Given the description of an element on the screen output the (x, y) to click on. 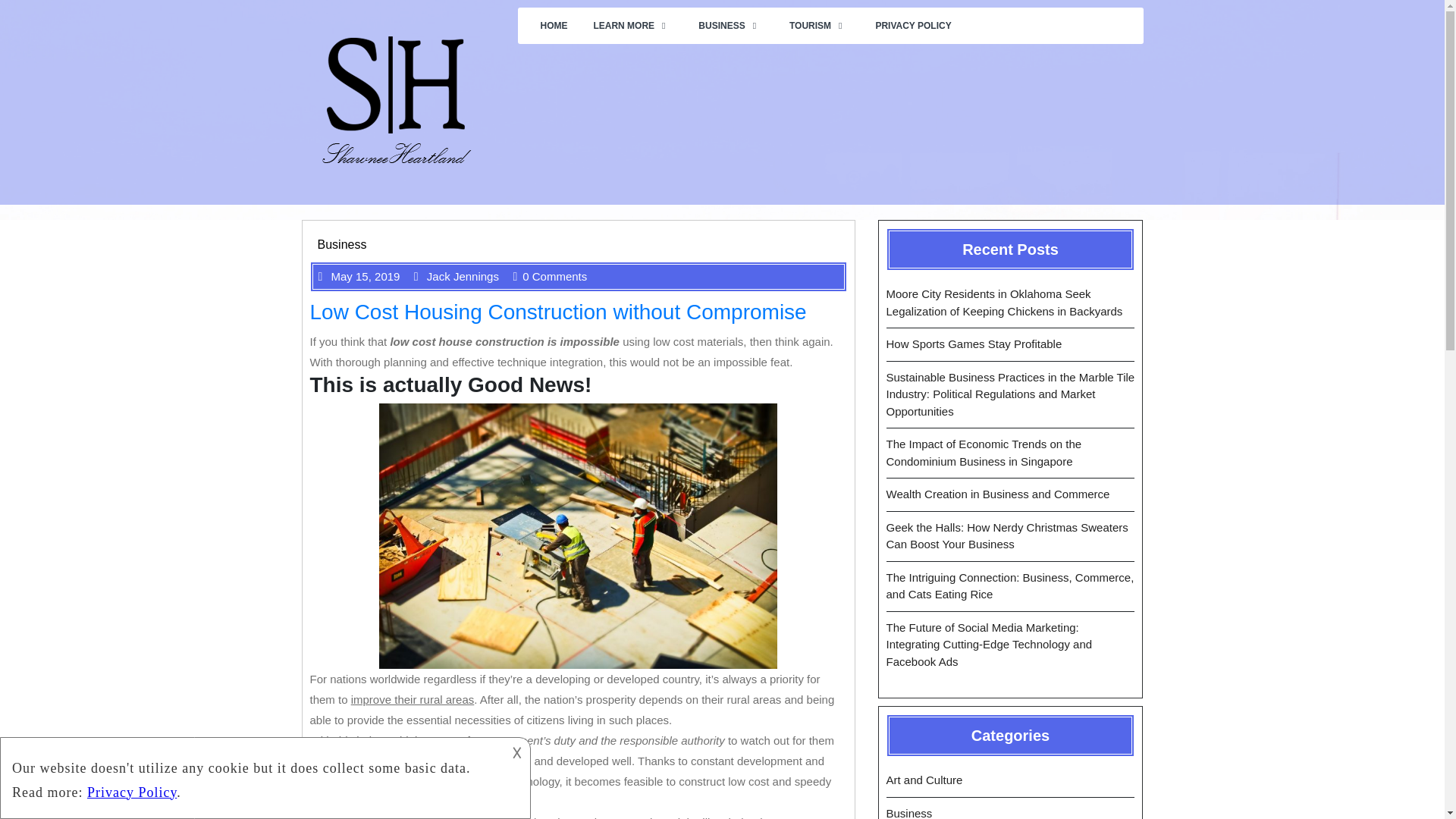
HOME (554, 25)
BUSINESS (730, 25)
description (252, 775)
TOURISM (819, 25)
How Sports Games Stay Profitable (973, 343)
Business (341, 244)
Art and Culture (923, 779)
PRIVACY POLICY (912, 25)
